Given the description of an element on the screen output the (x, y) to click on. 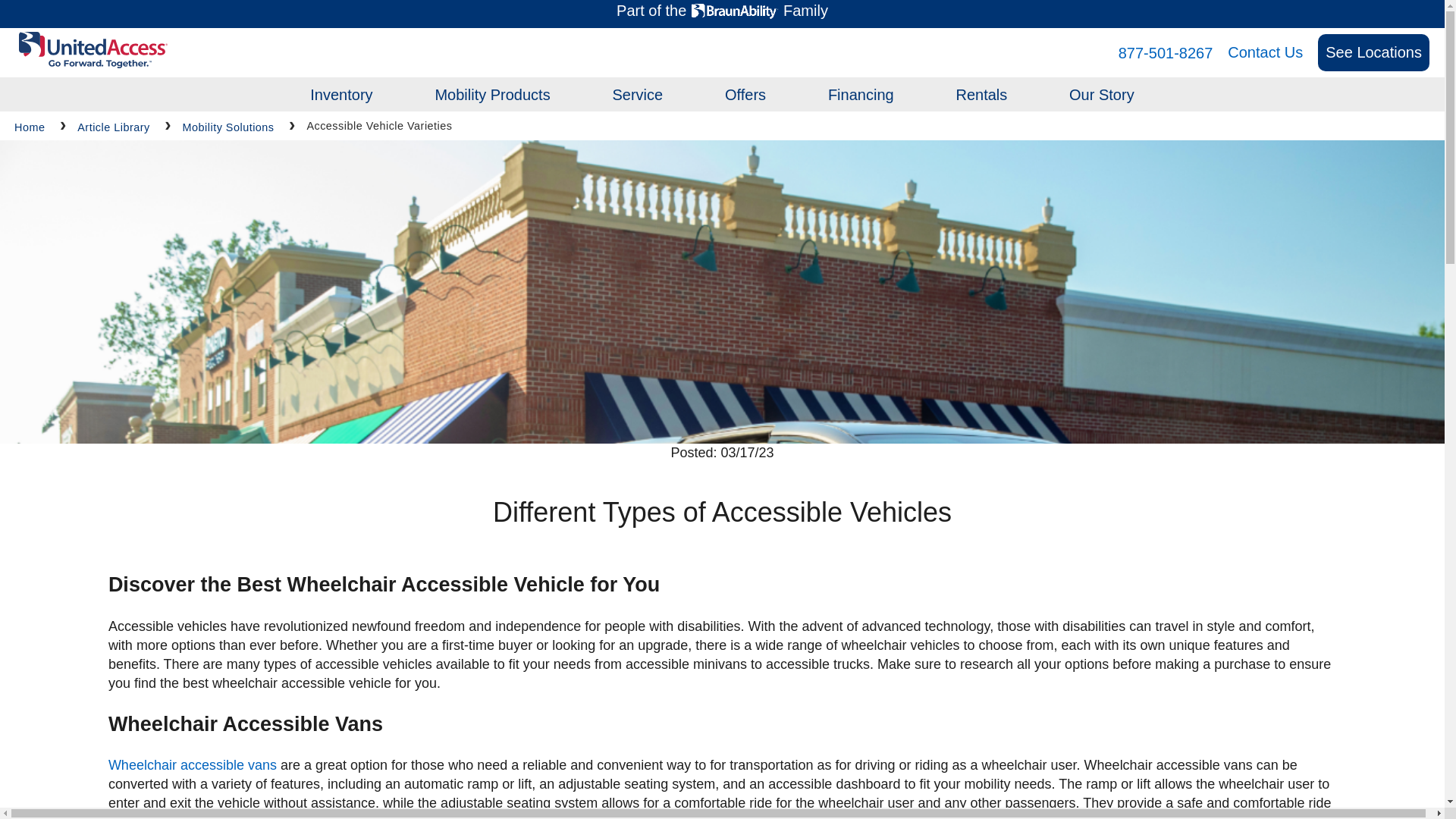
Limited-Time Savings on Wheelchair Vans (882, 296)
Commercial Products (521, 351)
Offers (745, 94)
All Mobility Products (517, 351)
Mobility Products (491, 94)
Wheelchair Vehicles for Sale (421, 241)
See Locations (1373, 52)
Preventative Maintenance (714, 205)
Inventory (341, 94)
Home Accessibility Solutions (546, 351)
